Given the description of an element on the screen output the (x, y) to click on. 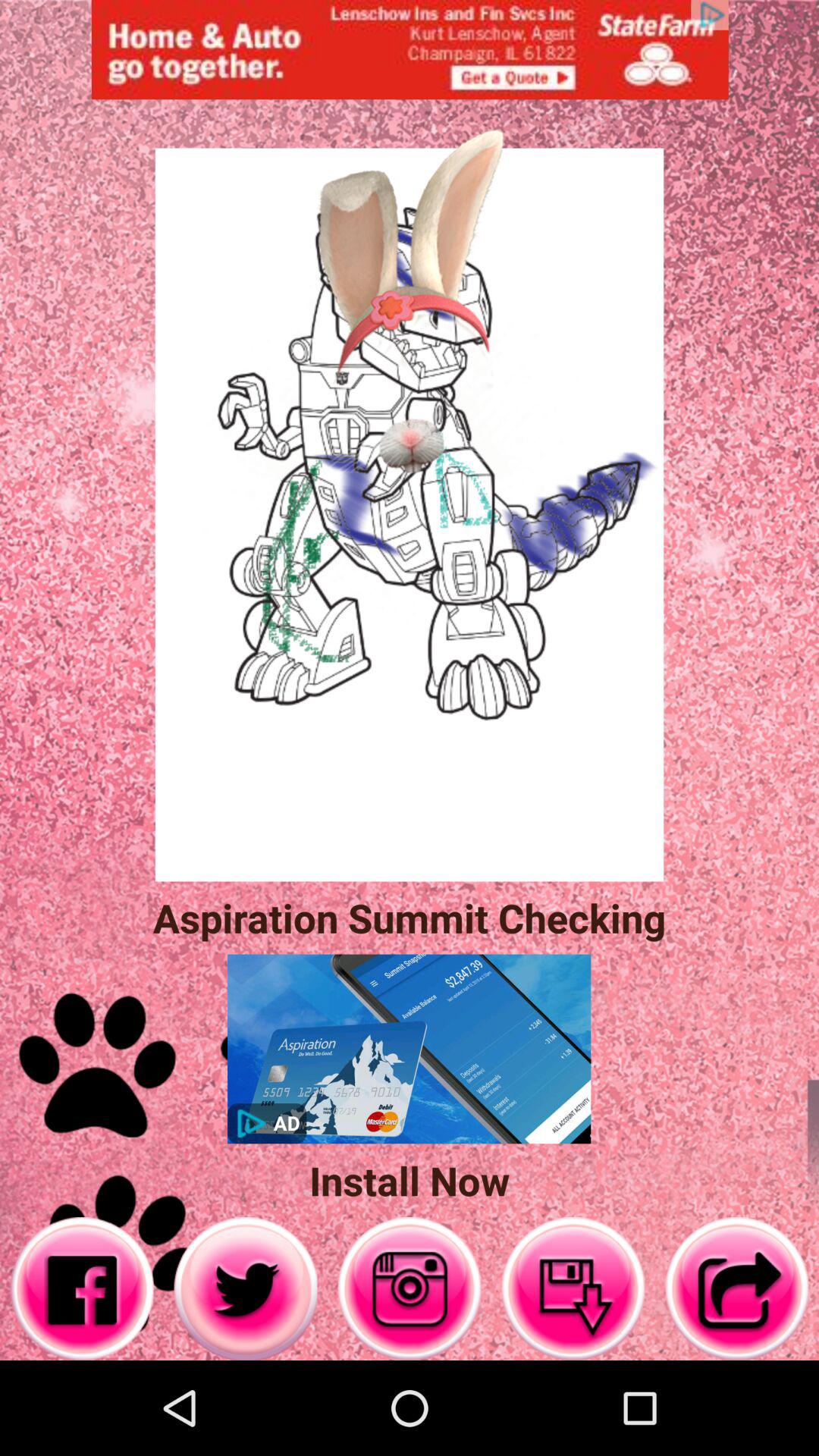
save (573, 1288)
